Given the description of an element on the screen output the (x, y) to click on. 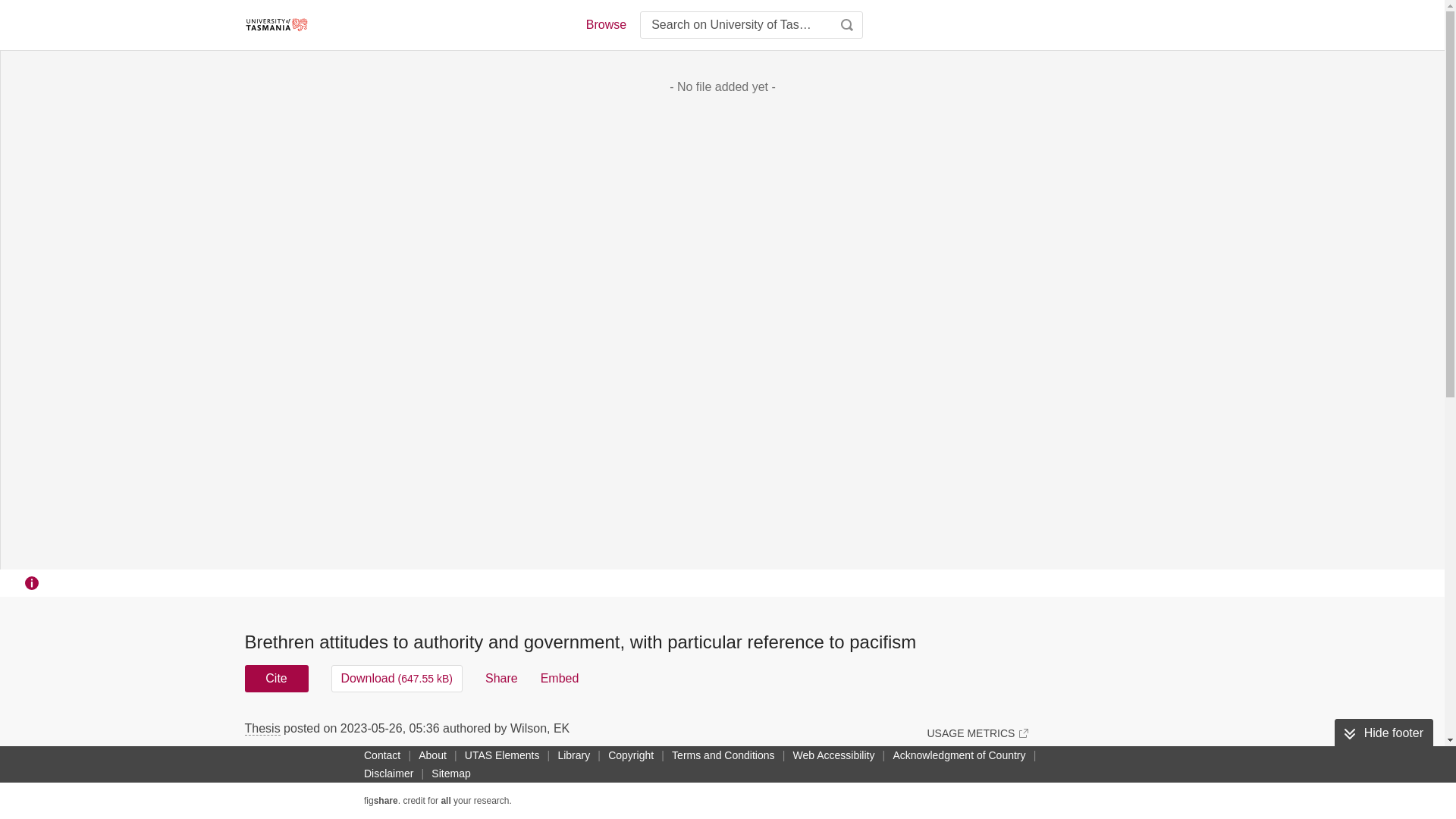
Hide footer (1383, 733)
Acknowledgment of Country (958, 755)
Embed (559, 678)
Share (501, 678)
Disclaimer (388, 773)
Contact (381, 755)
About (432, 755)
Library (573, 755)
Sitemap (450, 773)
Web Accessibility (834, 755)
